Given the description of an element on the screen output the (x, y) to click on. 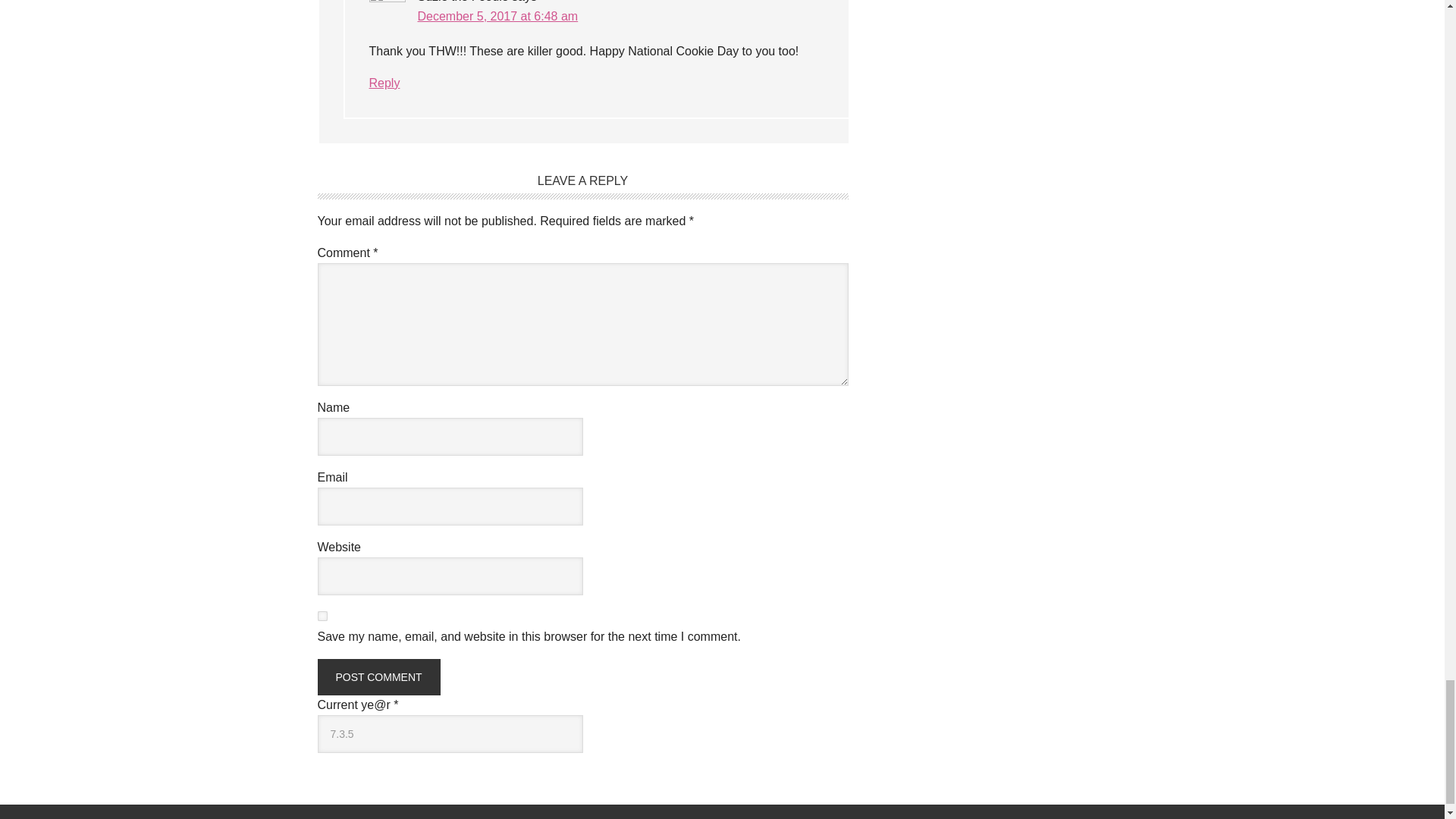
7.3.5 (449, 733)
Post Comment (378, 677)
yes (321, 615)
